Given the description of an element on the screen output the (x, y) to click on. 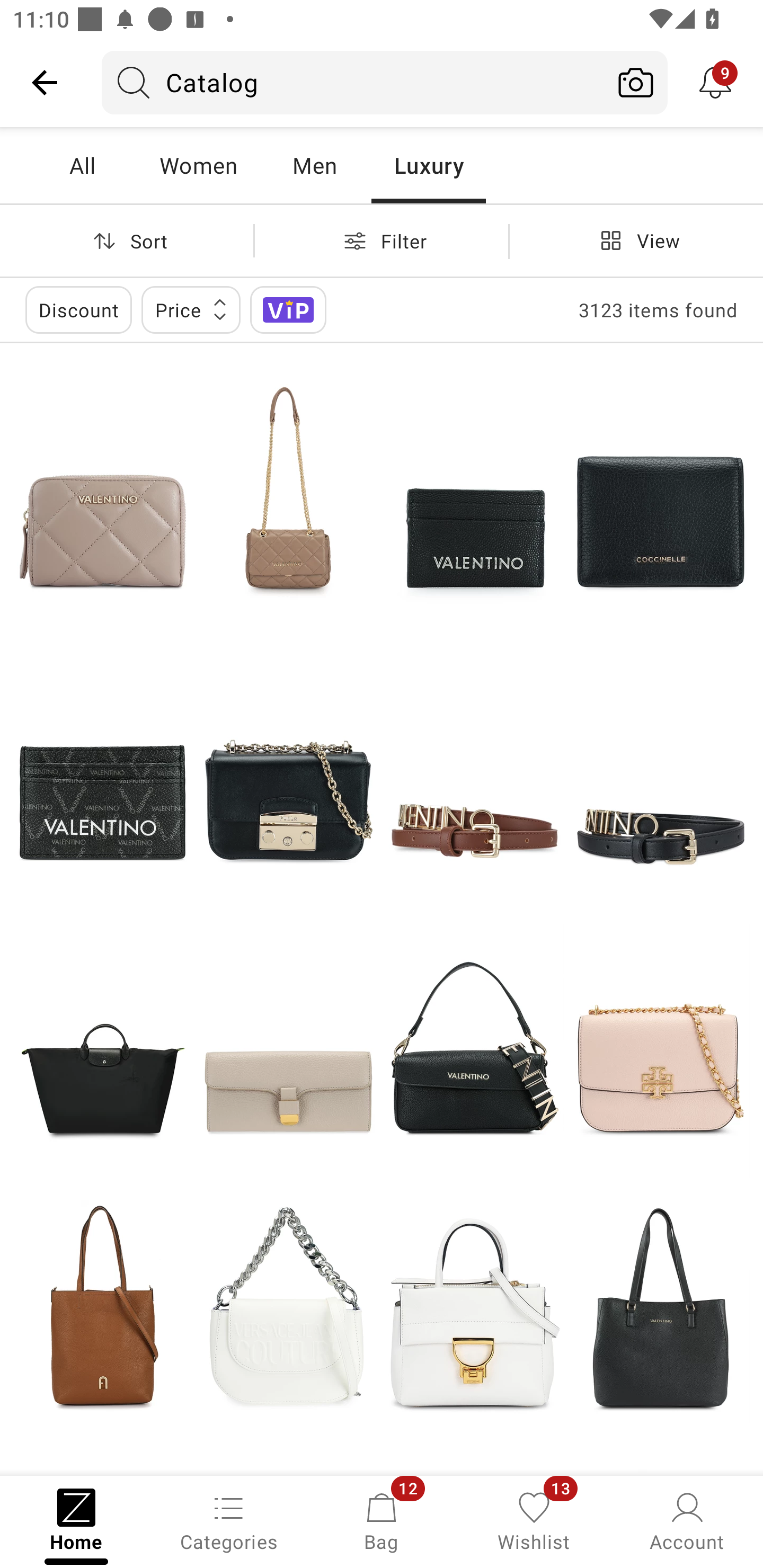
Navigate up (44, 82)
Catalog (352, 82)
All (82, 165)
Women (198, 165)
Men (314, 165)
Sort (126, 240)
Filter (381, 240)
View (636, 240)
Discount (78, 309)
Price (190, 309)
Categories (228, 1519)
Bag, 12 new notifications Bag (381, 1519)
Wishlist, 13 new notifications Wishlist (533, 1519)
Account (686, 1519)
